Given the description of an element on the screen output the (x, y) to click on. 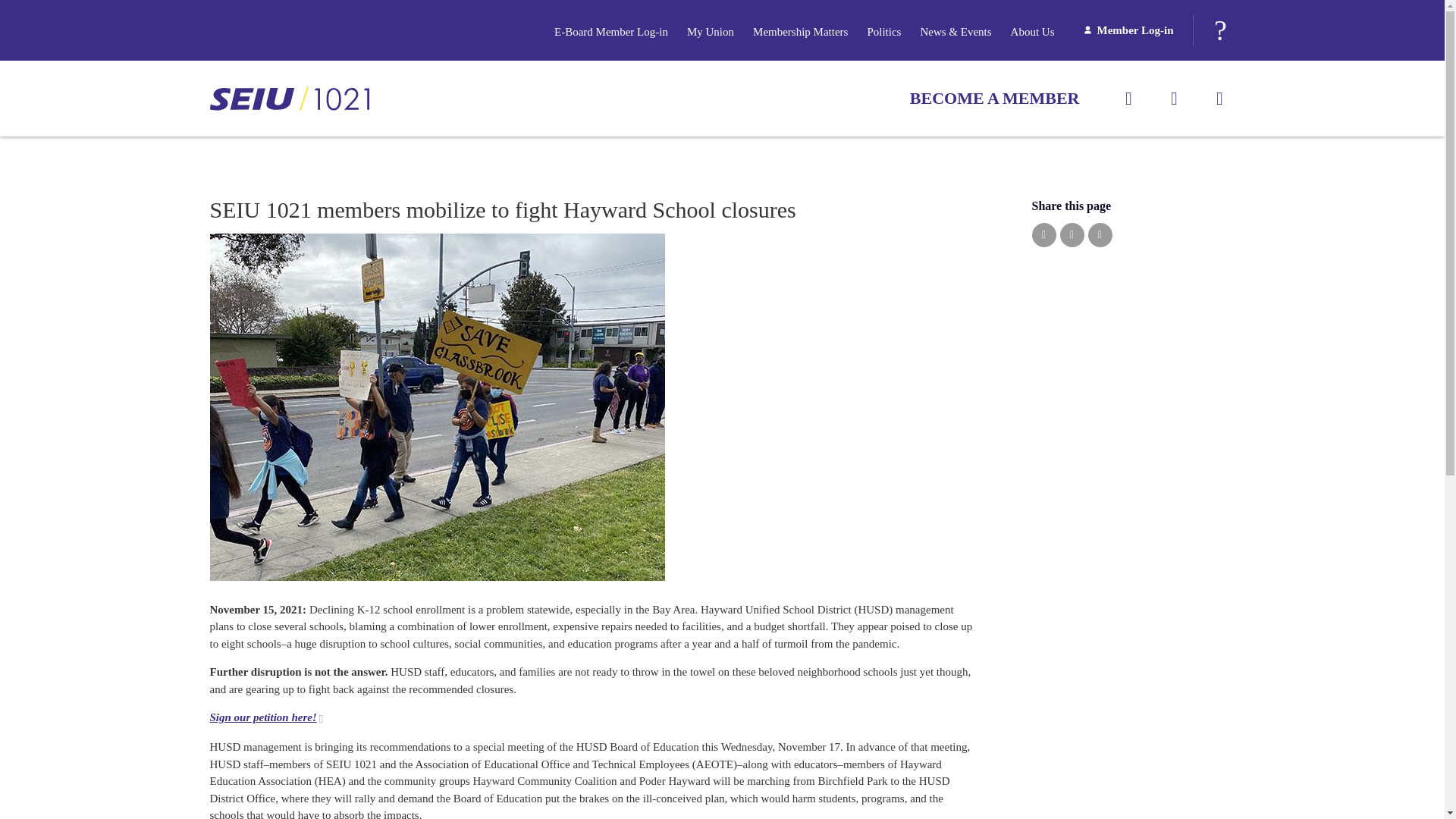
My Union (710, 31)
My Union (710, 31)
Back to home (288, 98)
E-Board Member Log-in (611, 31)
Search (1219, 30)
Politics (883, 31)
Membership Matters (799, 31)
SEIU 1021: Back to home (288, 98)
Member Log-in (1128, 30)
E-Board Member Log-in (611, 31)
About Us (1032, 31)
Membership Matters (799, 31)
Politics (883, 31)
Skip to main content (19, 26)
